Given the description of an element on the screen output the (x, y) to click on. 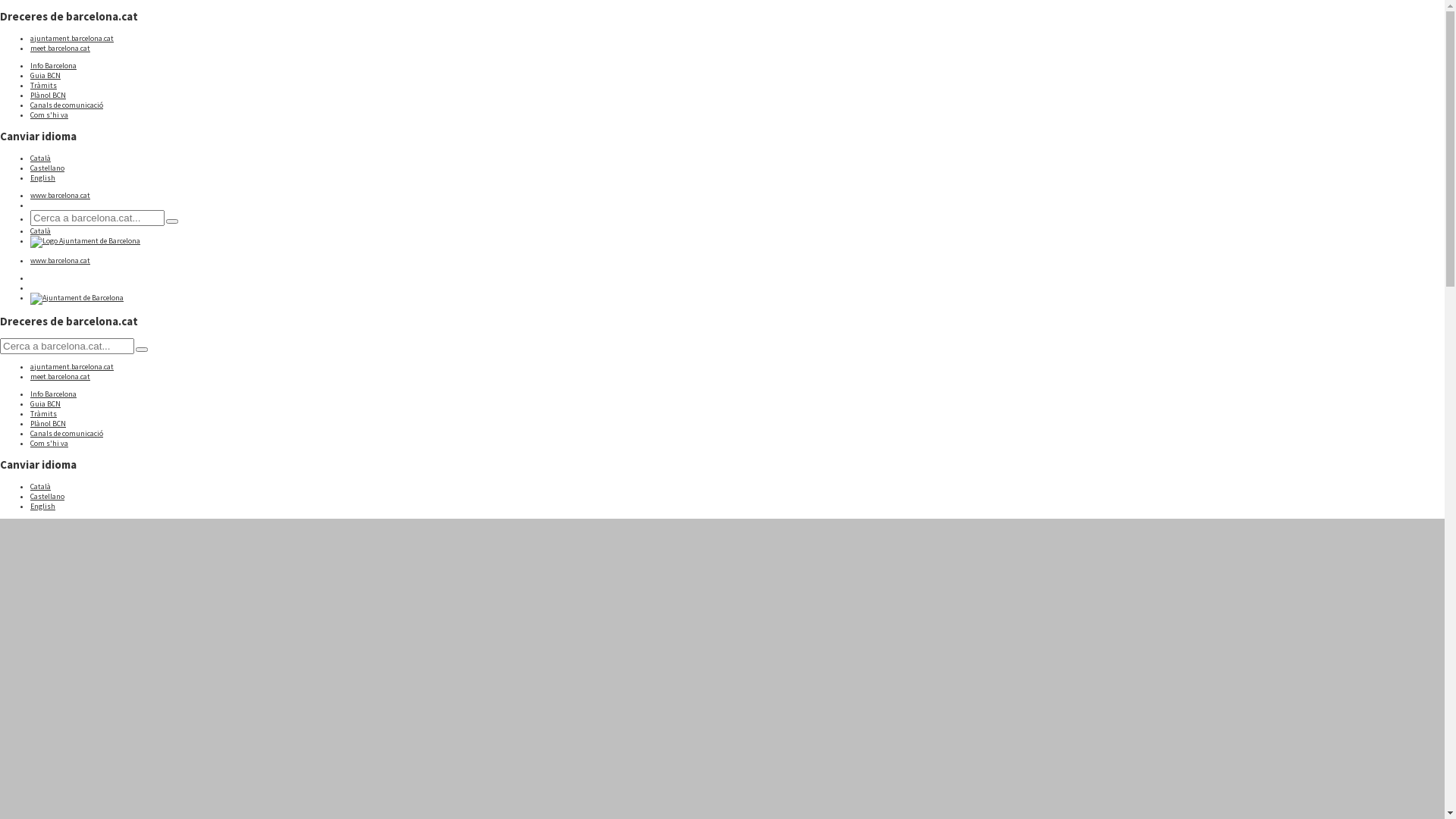
Guia BCN Element type: text (45, 75)
Cerca a barcelona.cat Element type: hover (97, 217)
Com s'hi va Element type: text (49, 443)
Castellano Element type: text (47, 496)
www.barcelona.cat Element type: text (60, 260)
www.barcelona.cat Element type: text (60, 195)
English Element type: text (42, 177)
Guia BCN Element type: text (45, 403)
meet.barcelona.cat Element type: text (60, 376)
Com s'hi va Element type: text (49, 114)
Info Barcelona Element type: text (53, 393)
English Element type: text (42, 505)
Castellano Element type: text (47, 167)
ajuntament.barcelona.cat Element type: text (71, 38)
Info Barcelona Element type: text (53, 65)
Cerca a barcelona.cat Element type: hover (141, 349)
Cerca a barcelona.cat Element type: hover (172, 221)
ajuntament.barcelona.cat Element type: text (71, 366)
meet.barcelona.cat Element type: text (60, 48)
